Given the description of an element on the screen output the (x, y) to click on. 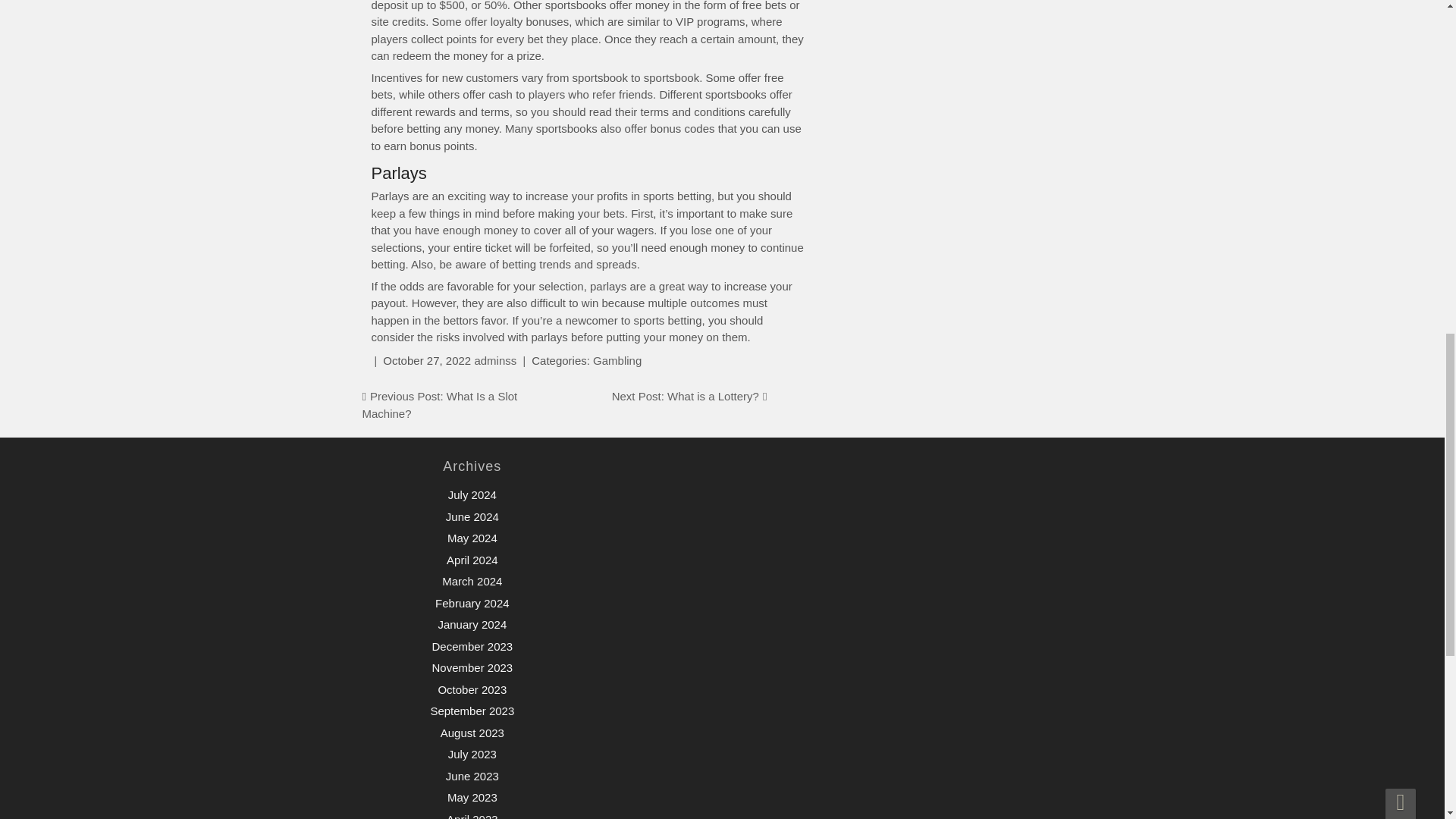
June 2024 (472, 516)
April 2023 (471, 816)
March 2024 (472, 581)
adminss (495, 359)
July 2024 (472, 494)
August 2023 (472, 732)
October 2023 (472, 689)
May 2024 (471, 537)
Next Post: What is a Lottery? (684, 395)
Posts by adminss (495, 359)
Previous Post: What Is a Slot Machine? (440, 404)
July 2023 (472, 753)
September 2023 (471, 710)
November 2023 (471, 667)
December 2023 (471, 645)
